Given the description of an element on the screen output the (x, y) to click on. 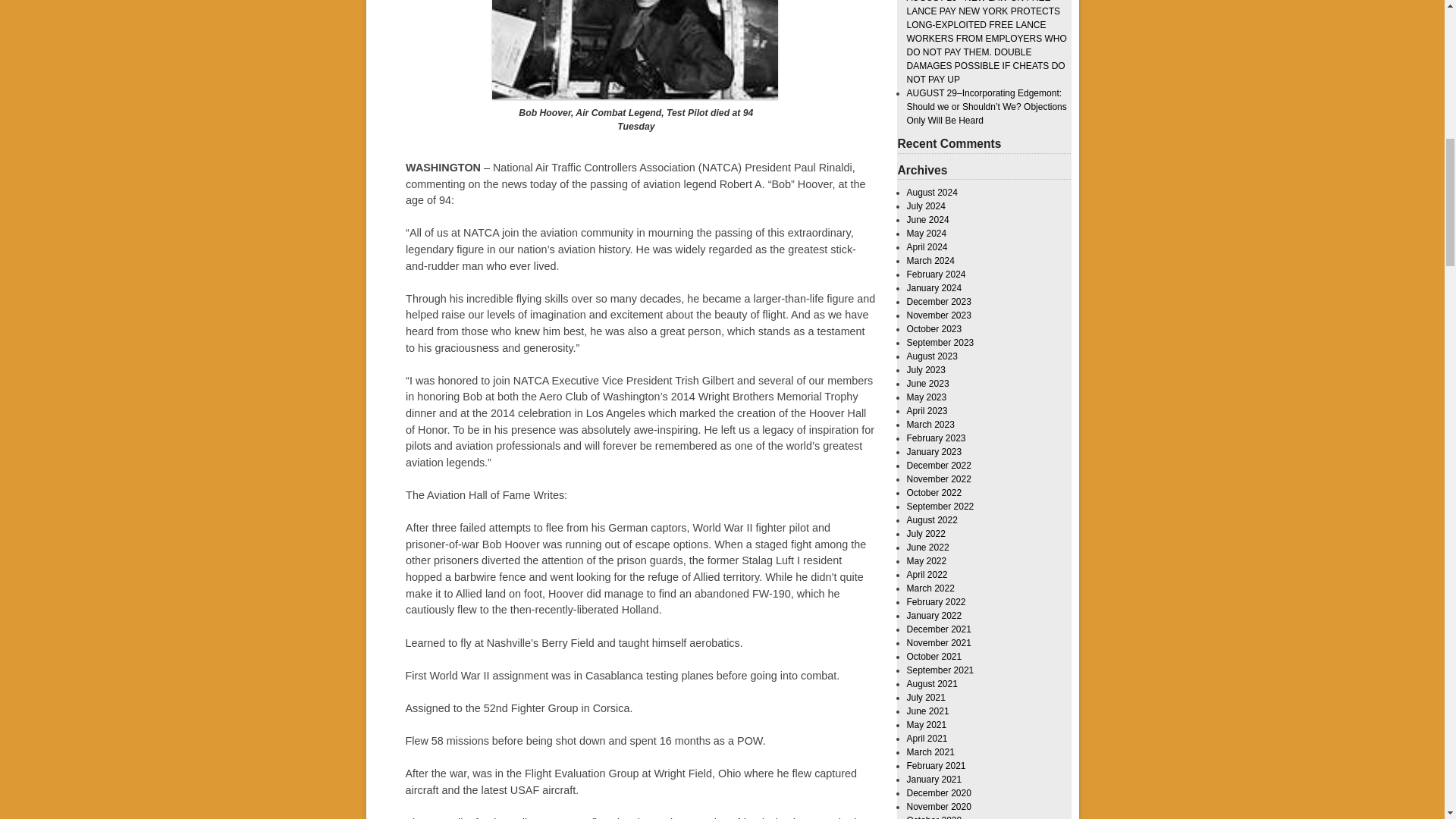
July 2023 (925, 369)
March 2024 (931, 260)
November 2023 (939, 315)
June 2024 (928, 219)
October 2023 (934, 328)
January 2024 (934, 287)
August 2024 (932, 192)
June 2023 (928, 383)
December 2023 (939, 301)
May 2024 (927, 233)
